Given the description of an element on the screen output the (x, y) to click on. 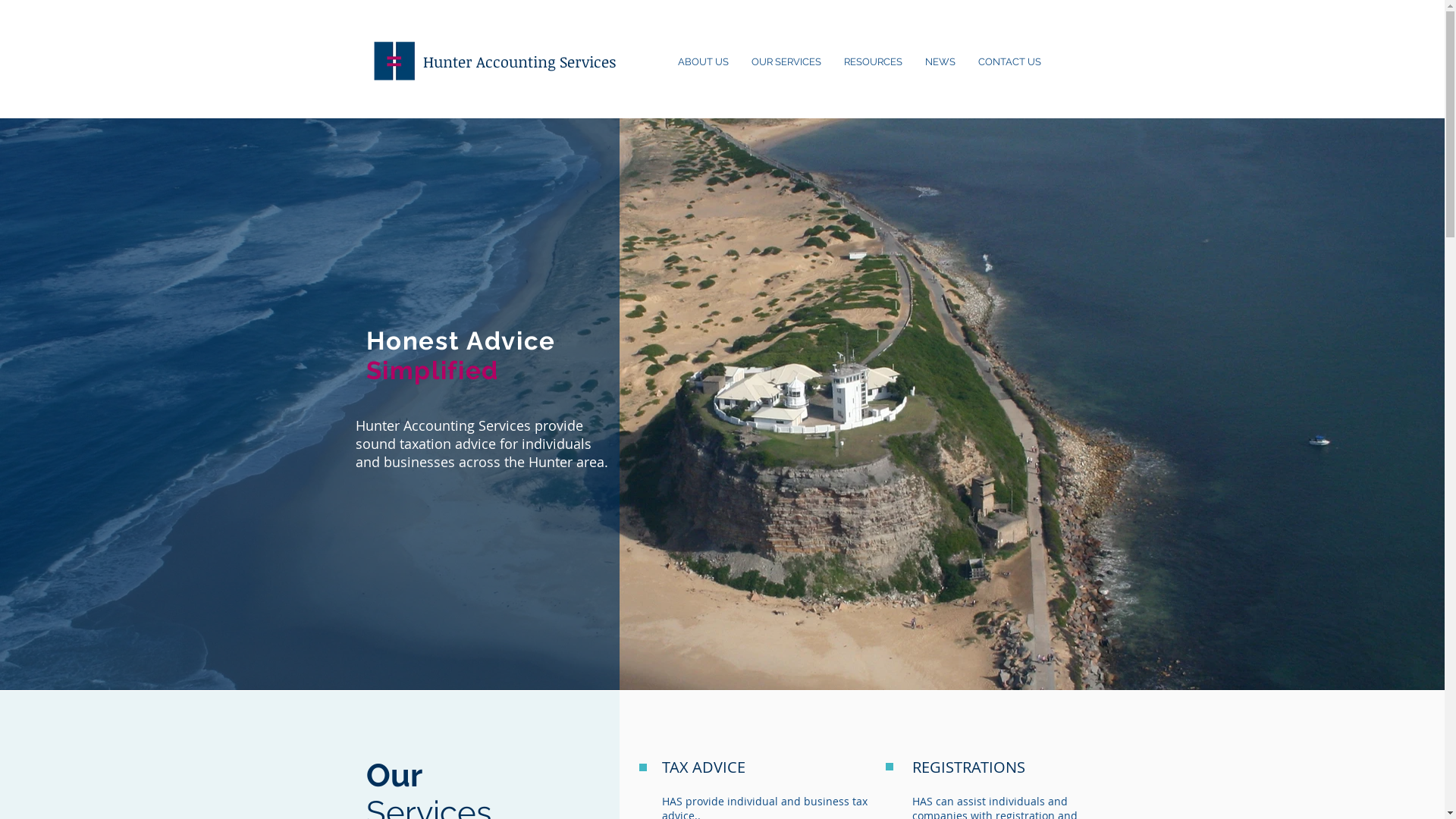
TAX ADVICE Element type: text (702, 766)
CONTACT US Element type: text (1008, 61)
OUR SERVICES Element type: text (786, 61)
RESOURCES Element type: text (872, 61)
ABOUT US Element type: text (702, 61)
NEWS Element type: text (939, 61)
REGISTRATIONS Element type: text (967, 766)
Hunter Accounting Services Element type: text (519, 61)
